Given the description of an element on the screen output the (x, y) to click on. 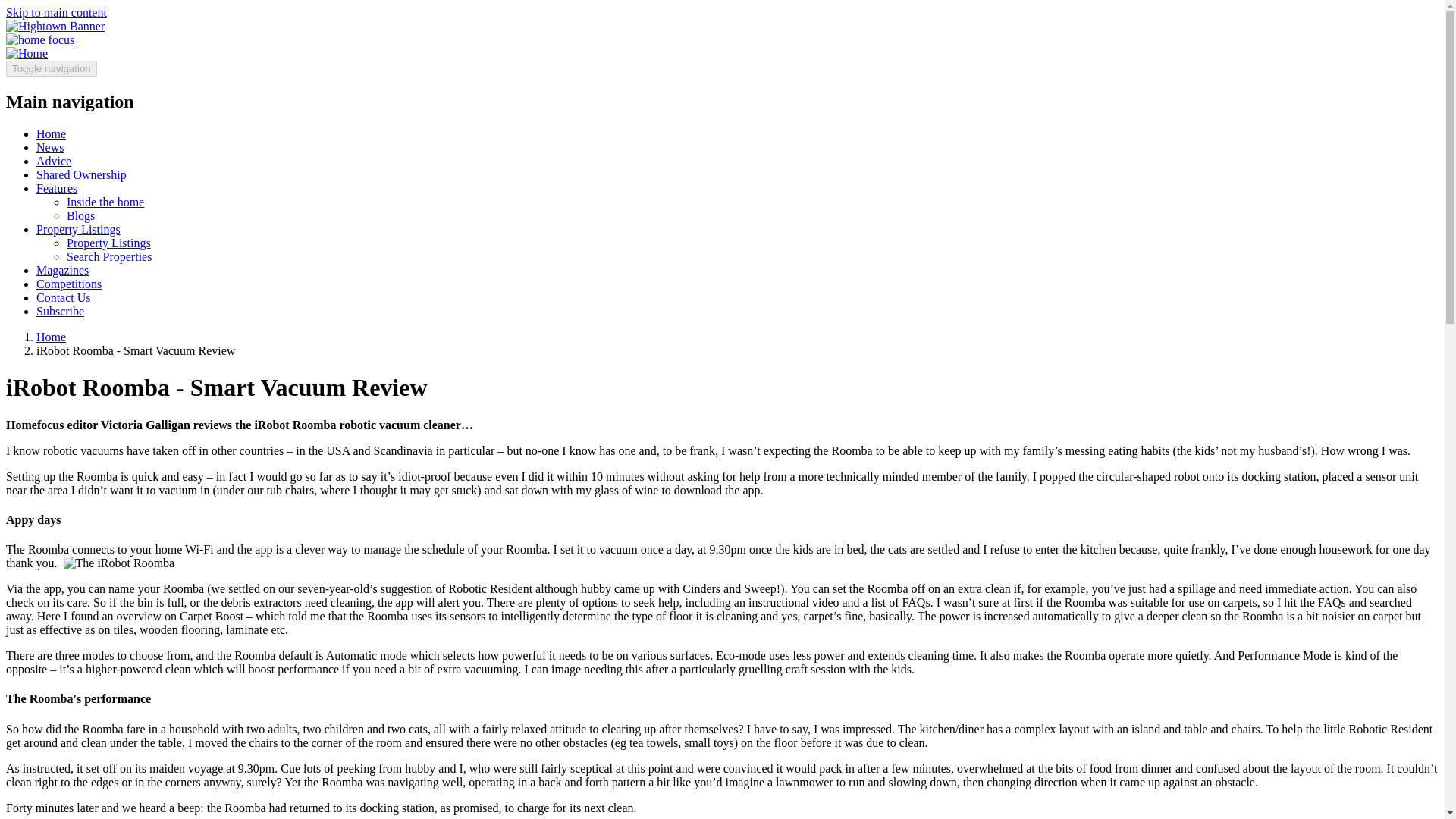
Blogs (80, 215)
Home (26, 52)
Advice (53, 160)
Features (56, 187)
Home (50, 336)
Inside the home (105, 201)
Property Listings (108, 242)
Competitions (68, 283)
Property Listings (78, 228)
Contact Us (63, 297)
Magazines (62, 269)
Shared Ownership (81, 174)
Hightown Banner (54, 26)
Home (50, 133)
Subscribe (60, 310)
